Given the description of an element on the screen output the (x, y) to click on. 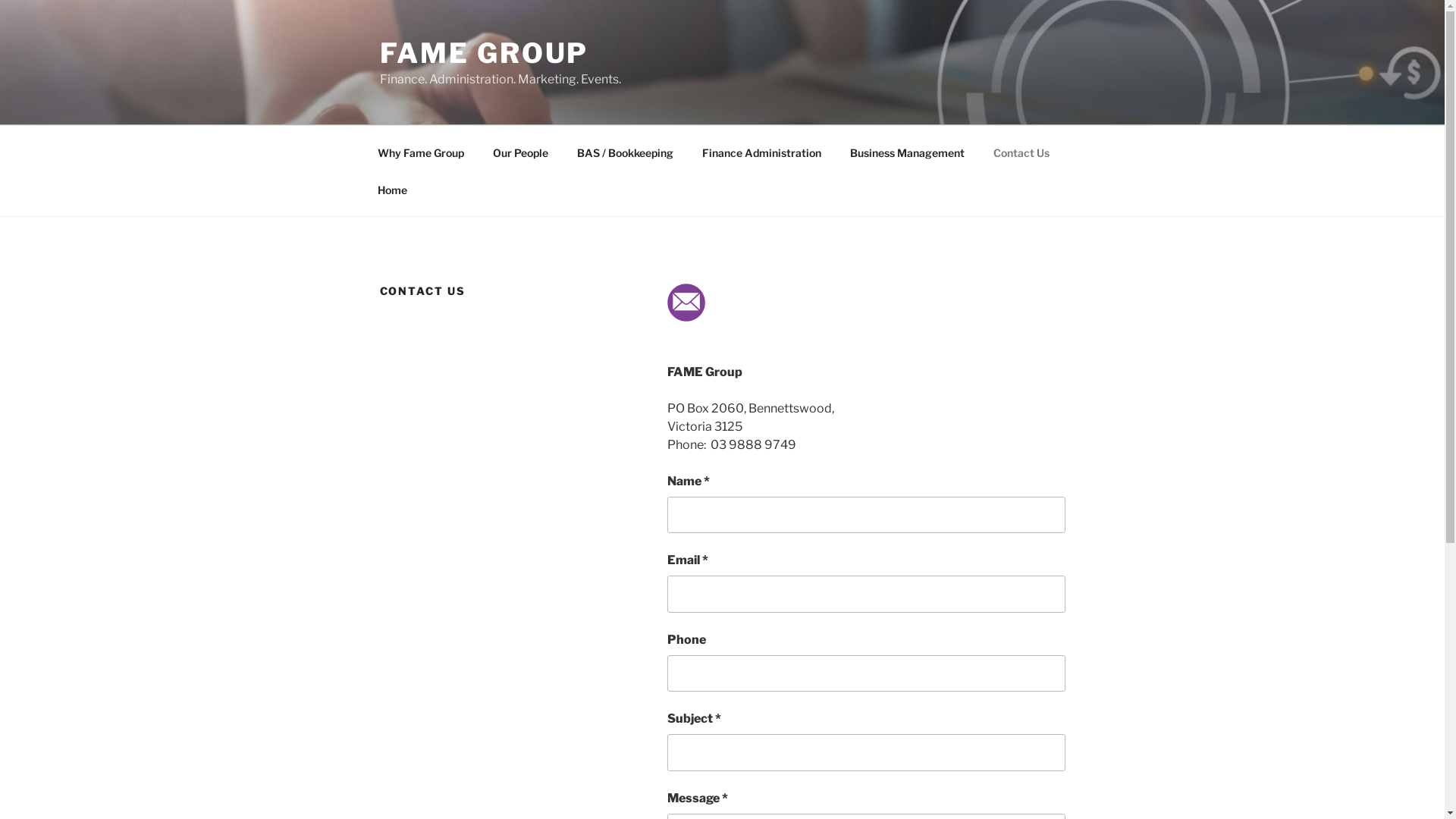
Our People Element type: text (520, 151)
Business Management Element type: text (907, 151)
Contact Us Element type: text (1020, 151)
Finance Administration Element type: text (761, 151)
BAS / Bookkeeping Element type: text (625, 151)
Why Fame Group Element type: text (420, 151)
FAME GROUP Element type: text (483, 52)
Home Element type: text (392, 189)
